Given the description of an element on the screen output the (x, y) to click on. 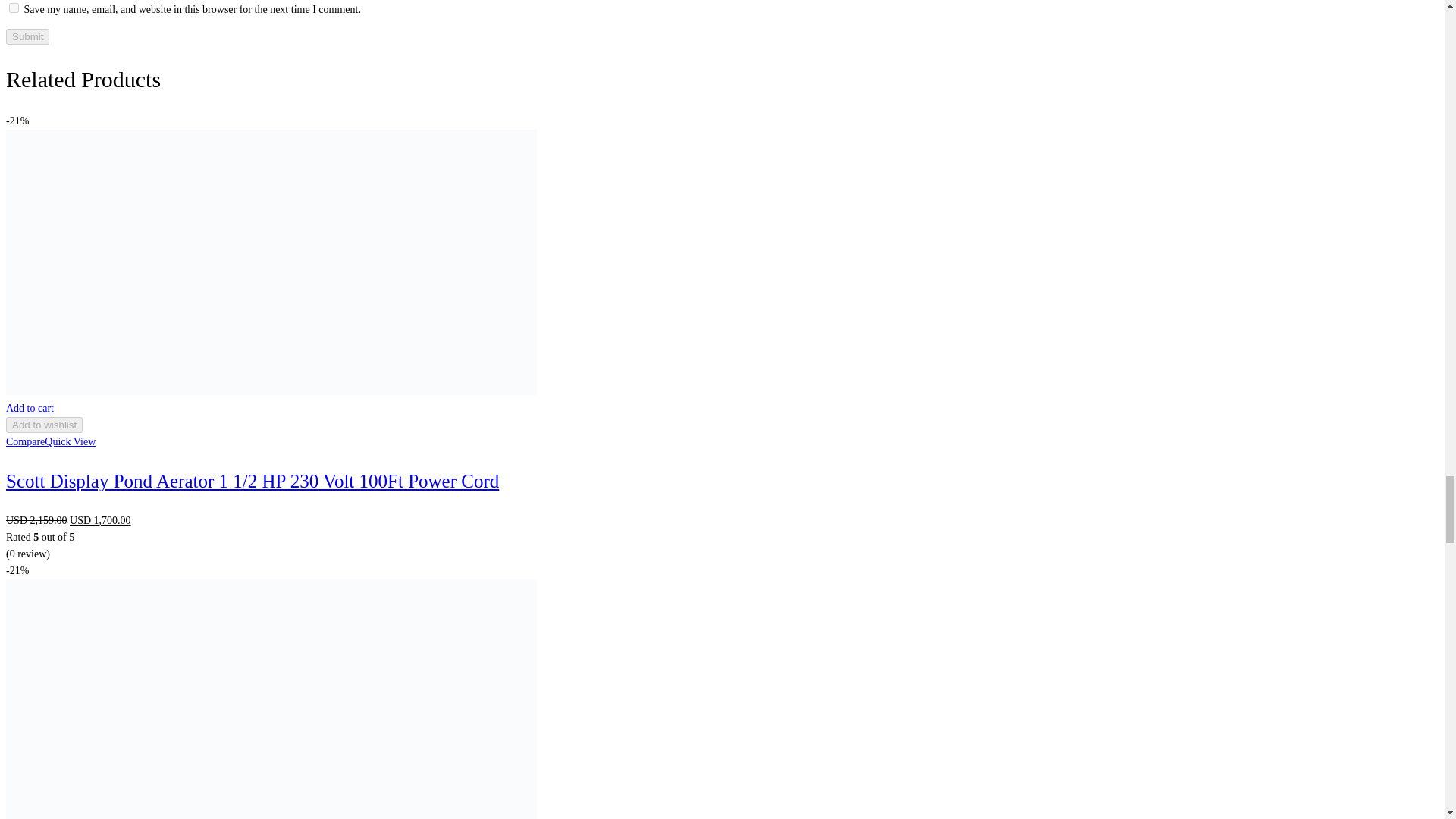
Submit (27, 36)
yes (13, 8)
